Given the description of an element on the screen output the (x, y) to click on. 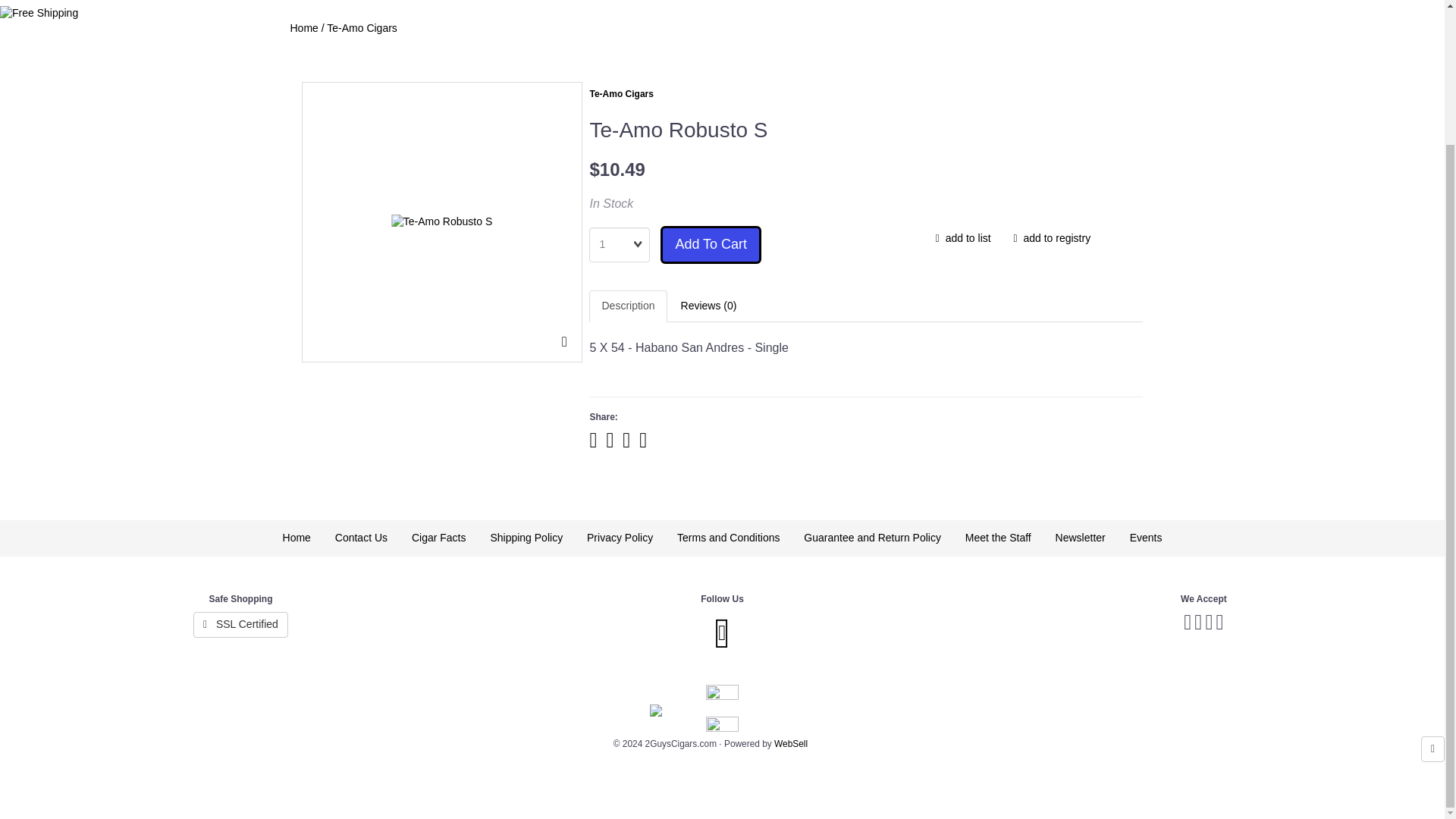
HUMIDORS (824, 2)
Te-Amo Cigars (361, 28)
BUNDLE CIGARS (714, 2)
CUTTERS (1000, 2)
Add To Cart (711, 244)
SAMPLERS (603, 2)
CIGAR OF THE MONTH (475, 2)
NEW ITEMS (1089, 2)
CIGAR SHOP (341, 2)
  add to list (963, 238)
LIGHTERS (915, 2)
Te-Amo Robusto S (442, 222)
Te-Amo Cigars (620, 93)
